Given the description of an element on the screen output the (x, y) to click on. 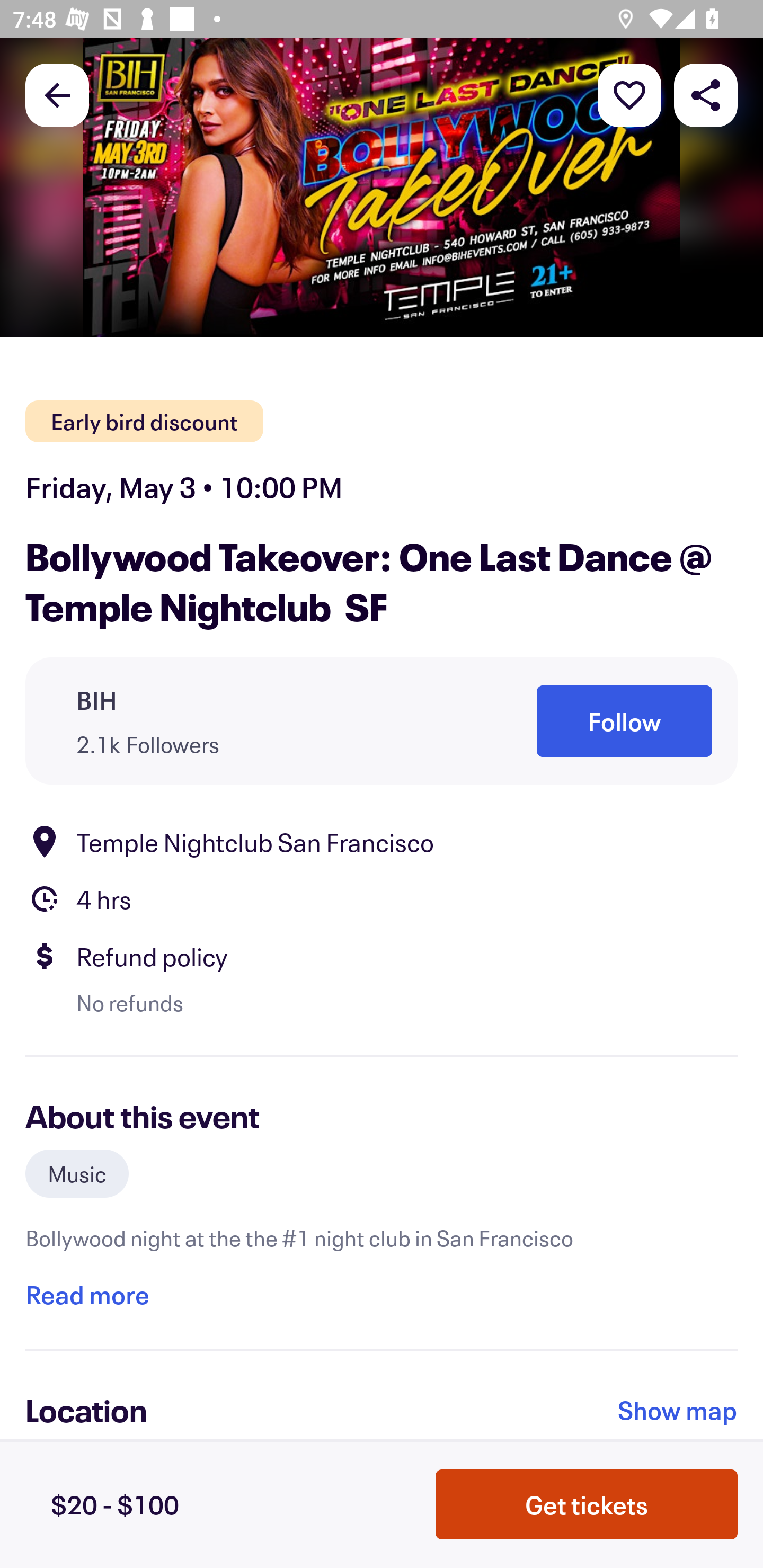
Back (57, 94)
More (629, 94)
Share (705, 94)
Early bird discount (144, 421)
BIH (96, 699)
Follow (623, 720)
Location Temple Nightclub San Francisco (381, 840)
Read more (87, 1293)
Show map (677, 1410)
Get tickets (586, 1504)
